Given the description of an element on the screen output the (x, y) to click on. 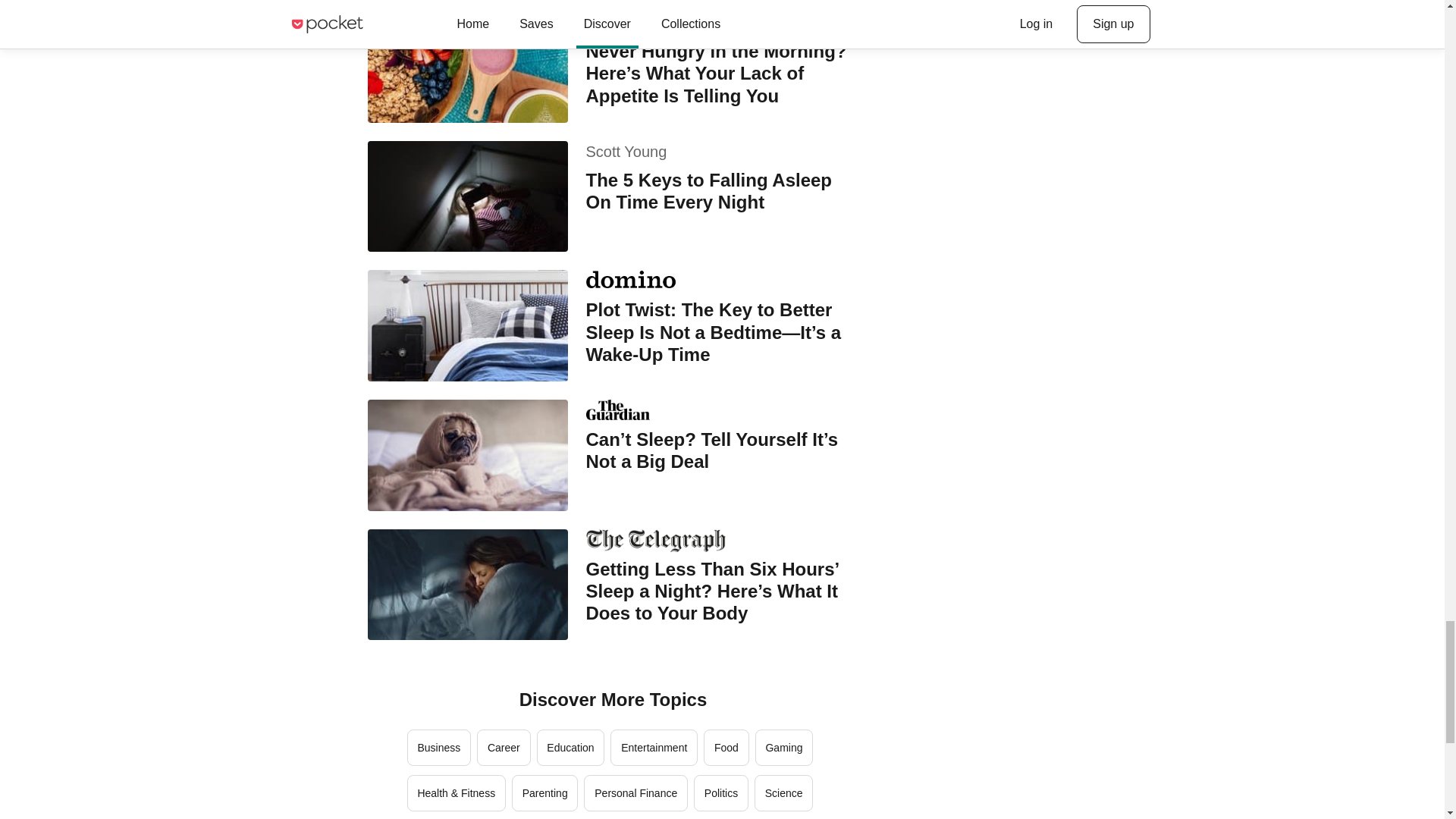
Food (726, 747)
Entertainment (653, 747)
Education (571, 747)
The 5 Keys to Falling Asleep On Time Every Night (722, 190)
Career (503, 747)
Business (438, 747)
